Given the description of an element on the screen output the (x, y) to click on. 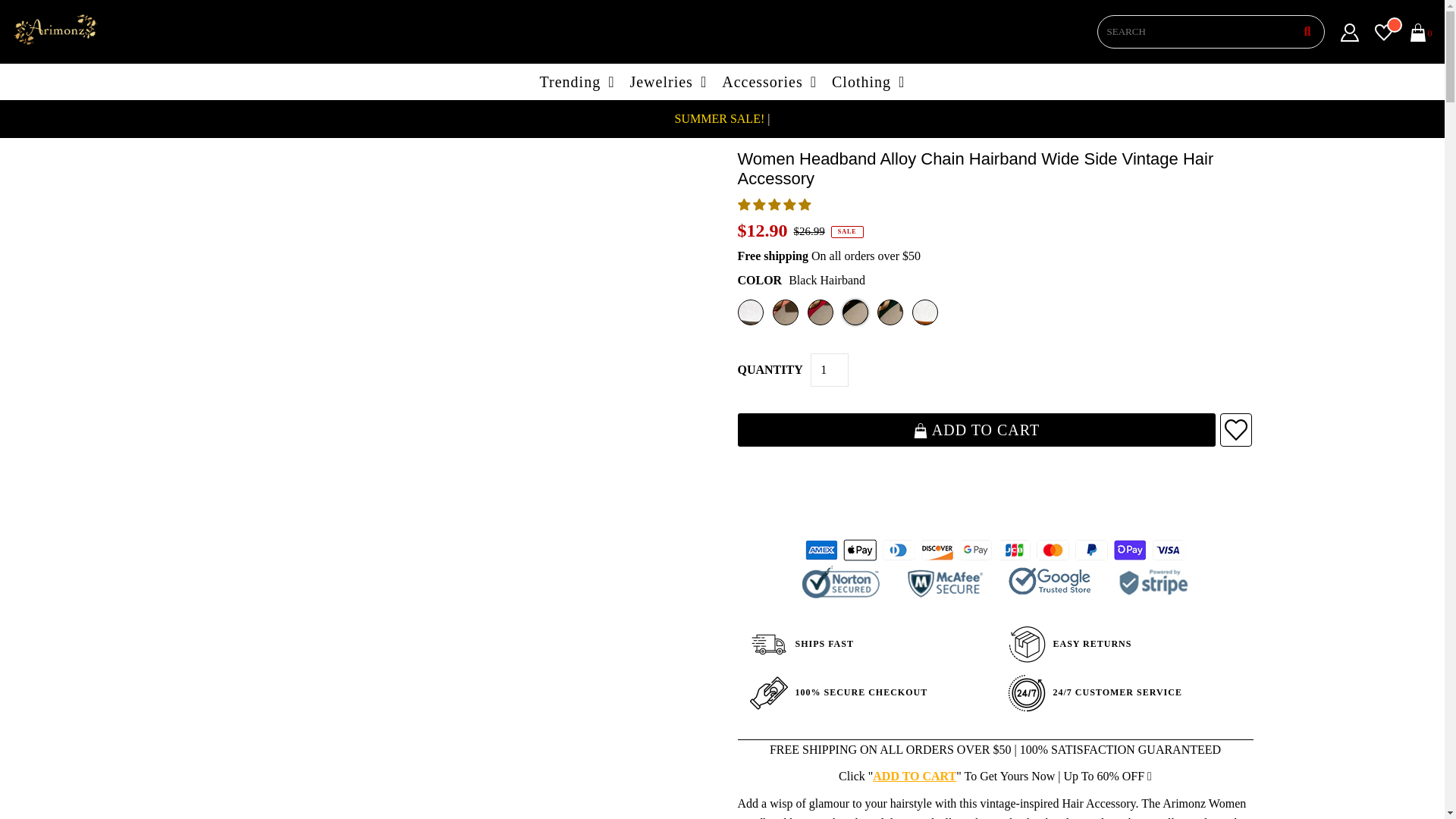
1 (829, 369)
